Given the description of an element on the screen output the (x, y) to click on. 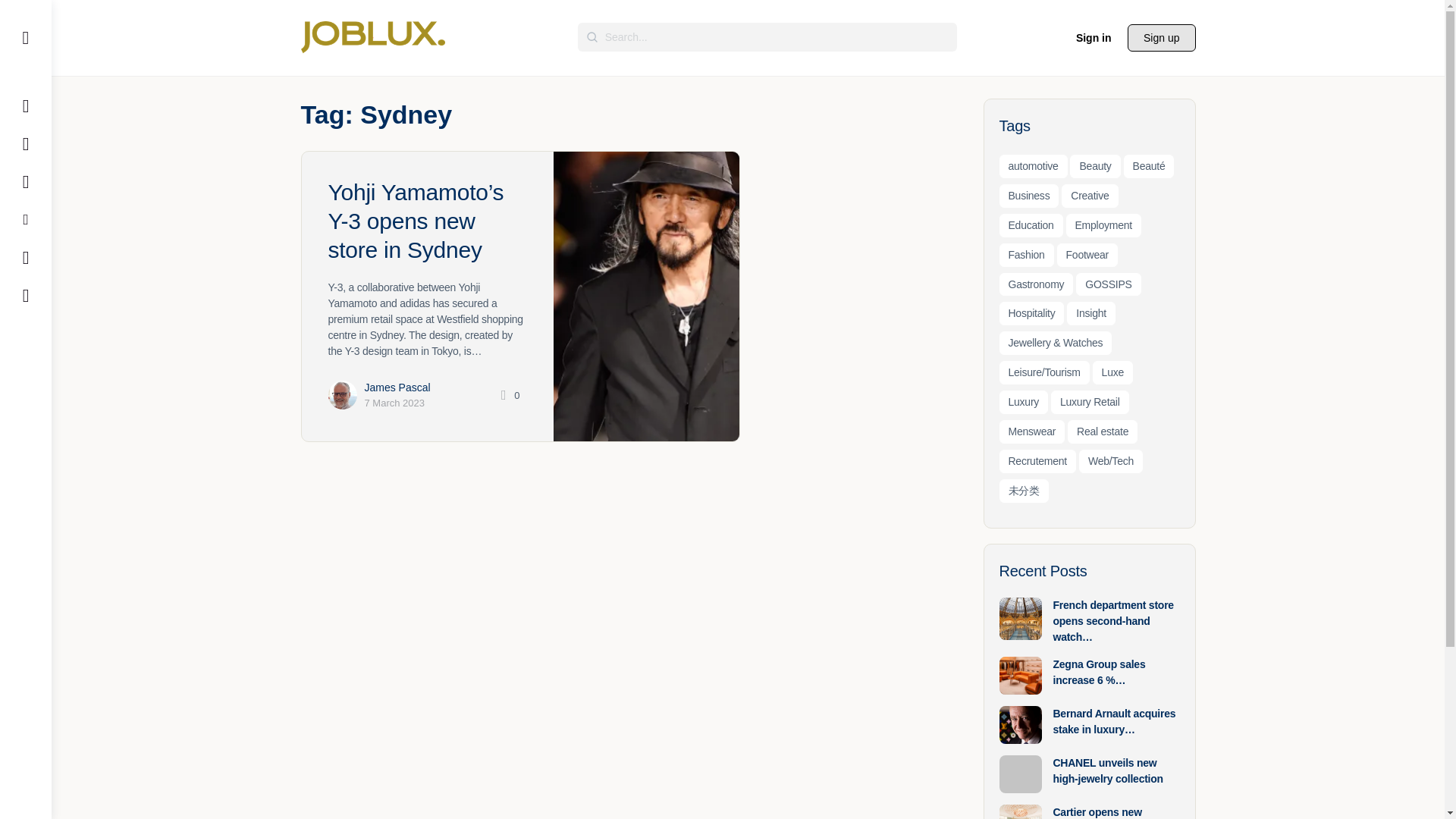
James Pascal (396, 387)
Education (1030, 225)
Sign in (1094, 37)
Creative (1089, 196)
Business (1028, 196)
automotive (1032, 166)
Sign up (1160, 37)
7 March 2023 (394, 402)
Beauty (1094, 166)
0 (508, 395)
